Given the description of an element on the screen output the (x, y) to click on. 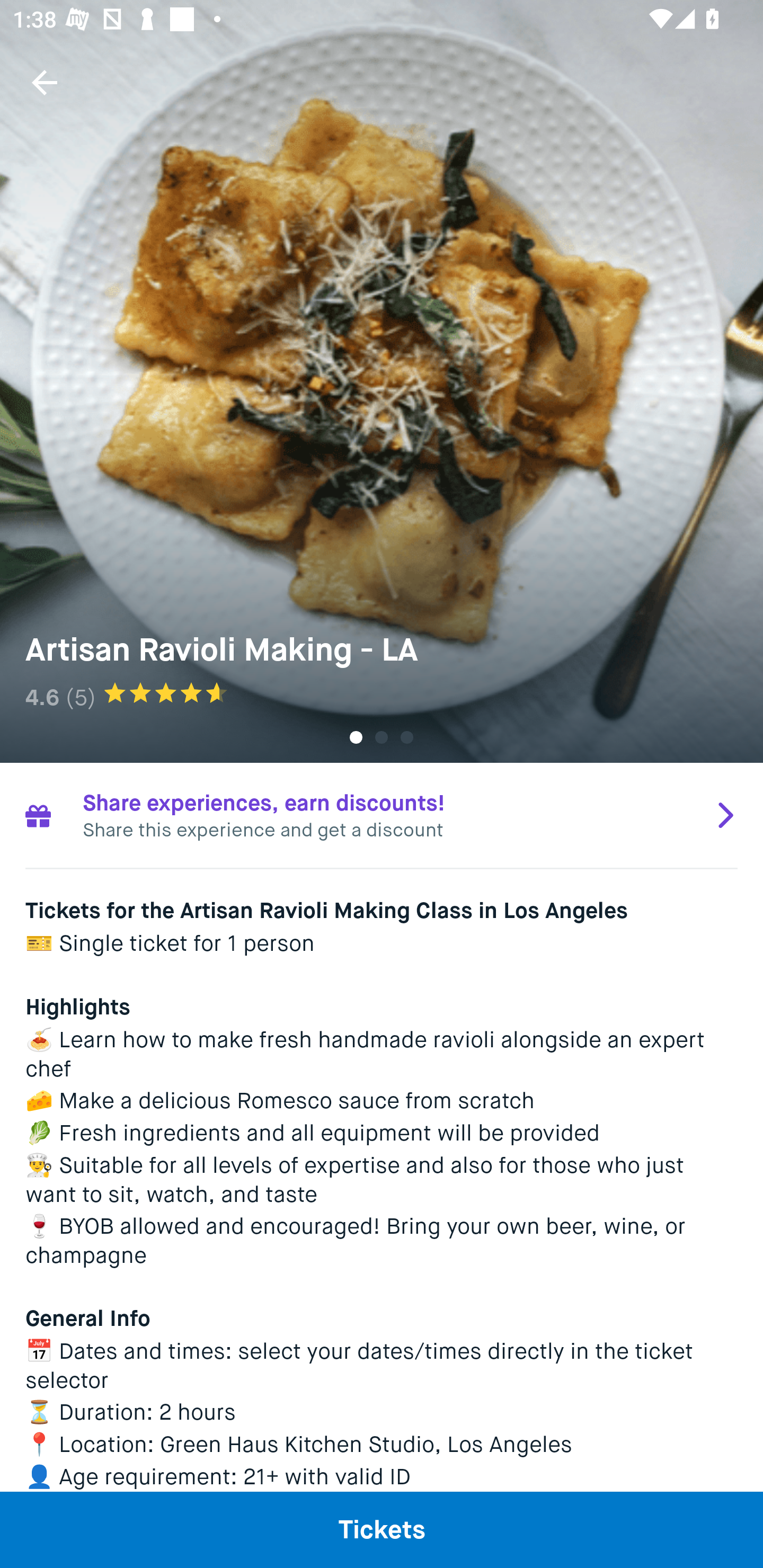
Navigate up (44, 82)
(5) (80, 697)
Tickets (381, 1529)
